Given the description of an element on the screen output the (x, y) to click on. 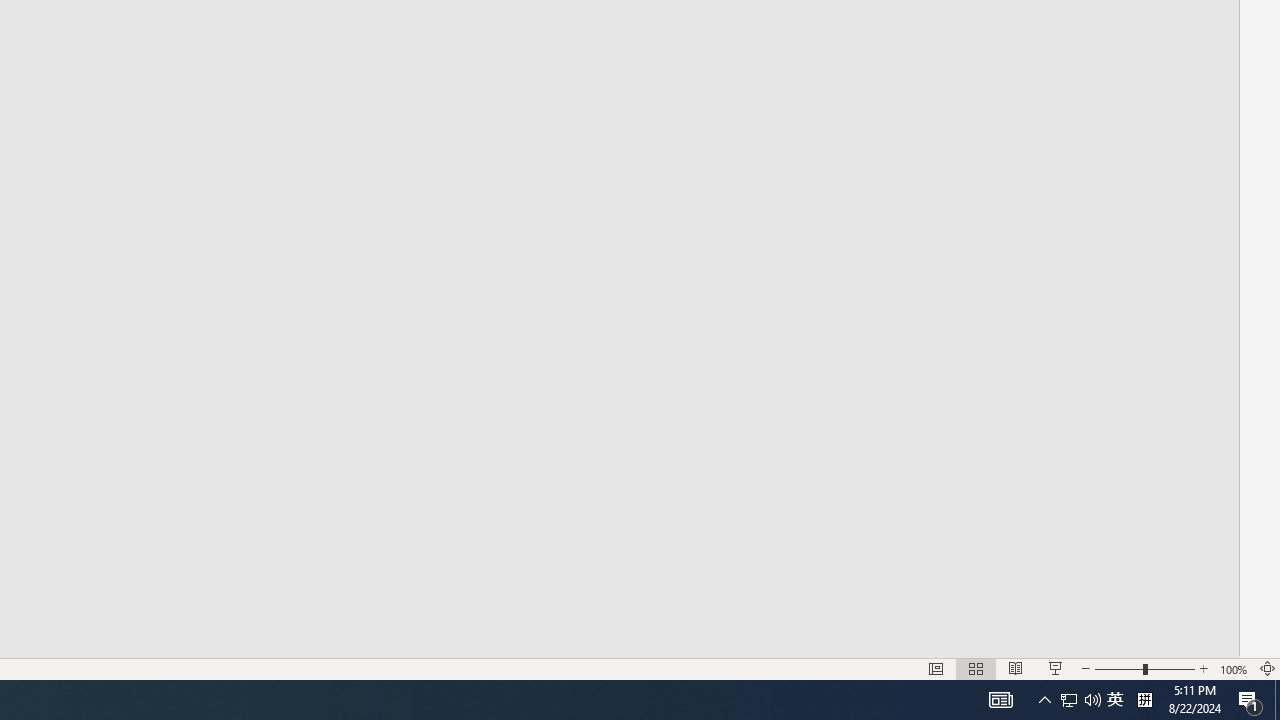
Zoom 100% (1234, 668)
